Given the description of an element on the screen output the (x, y) to click on. 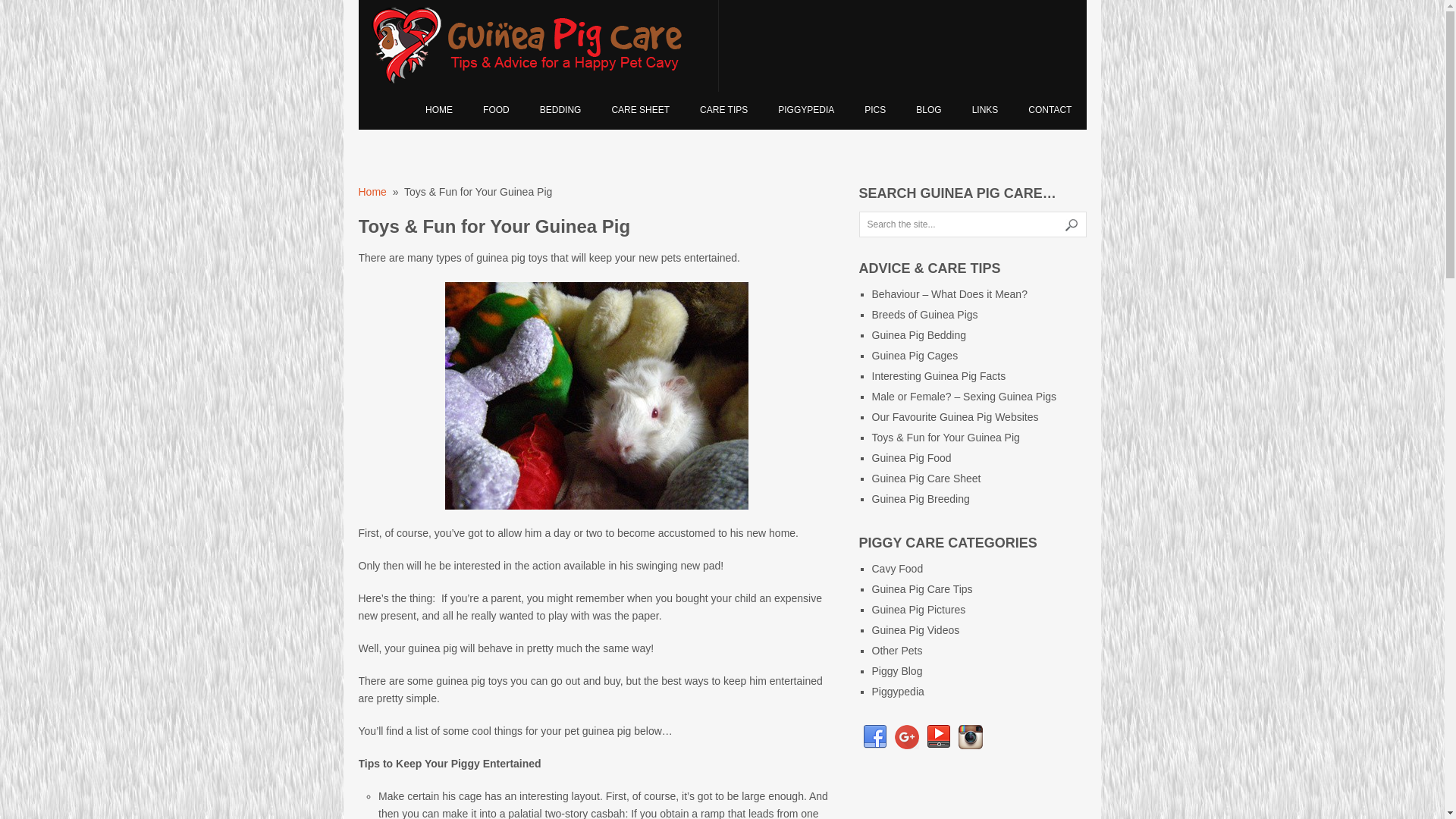
Guinea Pig Pictures (919, 609)
FOOD (495, 110)
Facebook (874, 736)
PIGGYPEDIA (805, 110)
Guinea Pig Care  (438, 110)
Home (371, 191)
Guinea Pig Care Sheet (639, 110)
PICS (874, 110)
Guinea Pig Bedding (919, 335)
Guinea Pig Care Tips (723, 110)
